Given the description of an element on the screen output the (x, y) to click on. 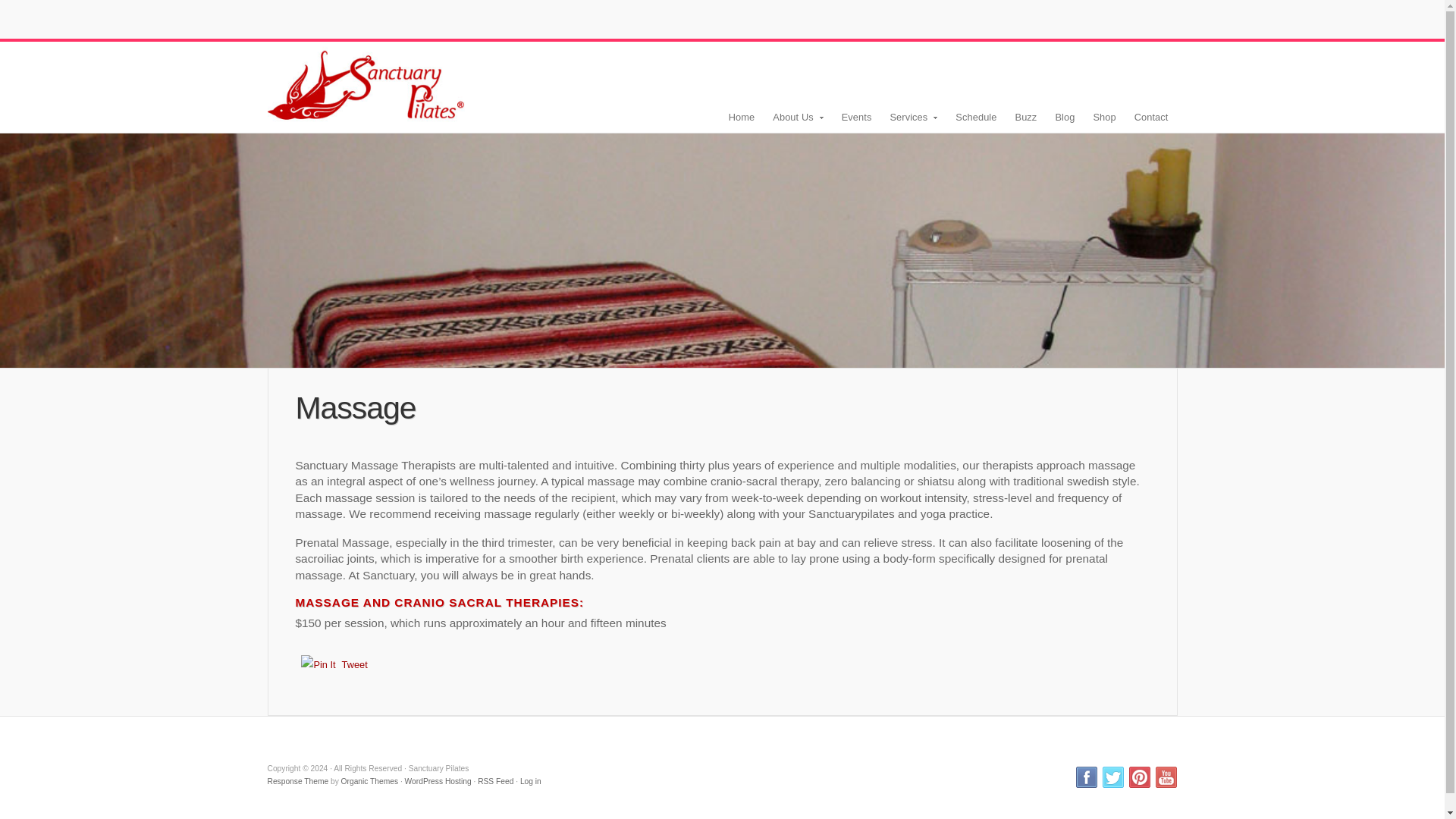
Schedule (976, 117)
Premium WordPress Themes (368, 781)
Organic Themes (368, 781)
Home (365, 81)
RSS Feed (495, 781)
Home (741, 117)
Response Theme (297, 781)
WordPress Hosting (437, 781)
Contact (1151, 117)
Log in (530, 781)
Tweet (355, 664)
Organic Response WordPress Theme (297, 781)
WordPress Hosting (437, 781)
Buzz (1026, 117)
Pin It (317, 664)
